Given the description of an element on the screen output the (x, y) to click on. 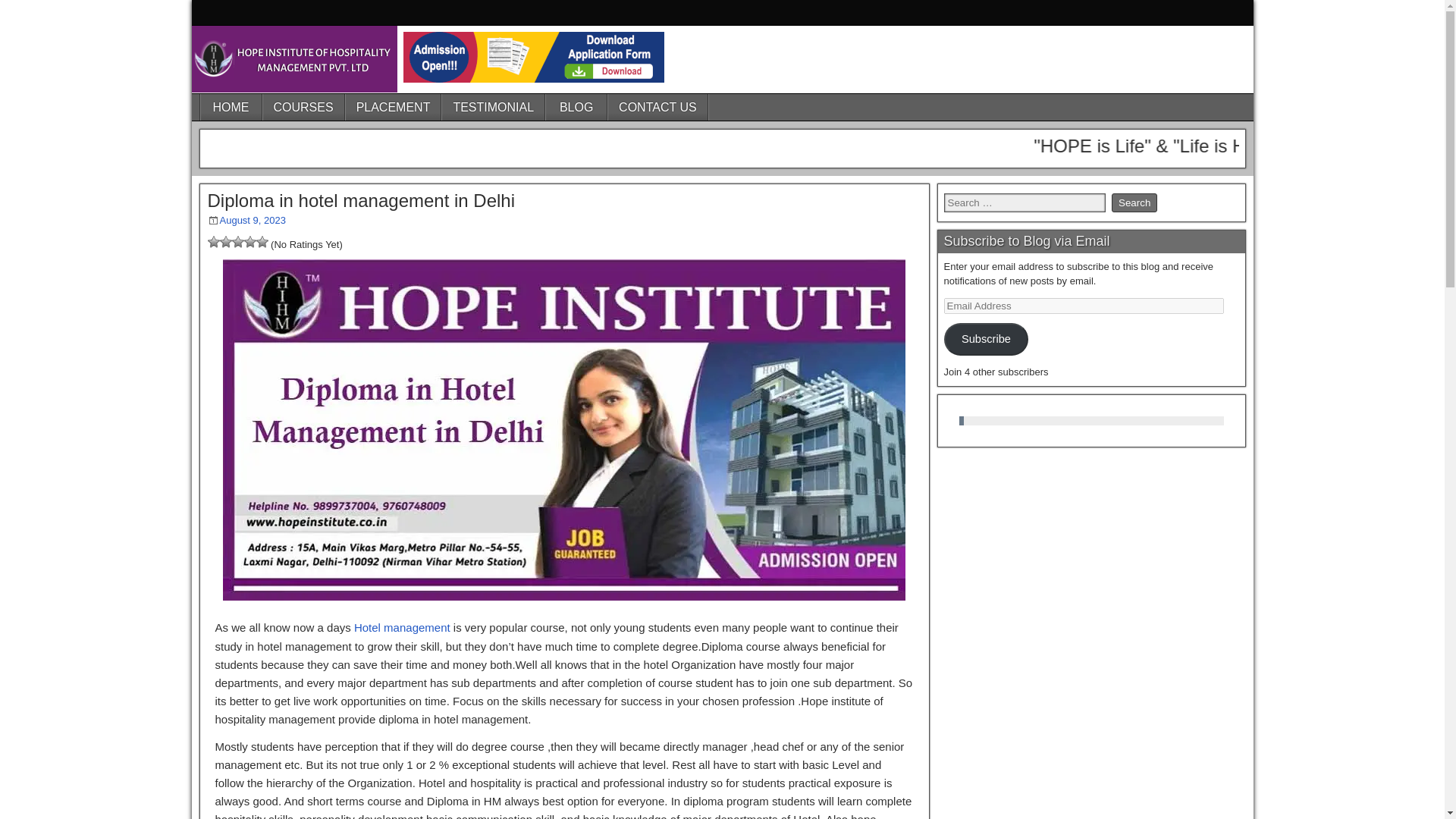
5 Stars (261, 241)
Search (1134, 202)
2 Stars (225, 241)
4 Stars (250, 241)
August 9, 2023 (252, 220)
TESTIMONIAL (493, 107)
CONTACT US (657, 107)
Hotel management (401, 626)
3 Stars (237, 241)
COURSES (302, 107)
